Given the description of an element on the screen output the (x, y) to click on. 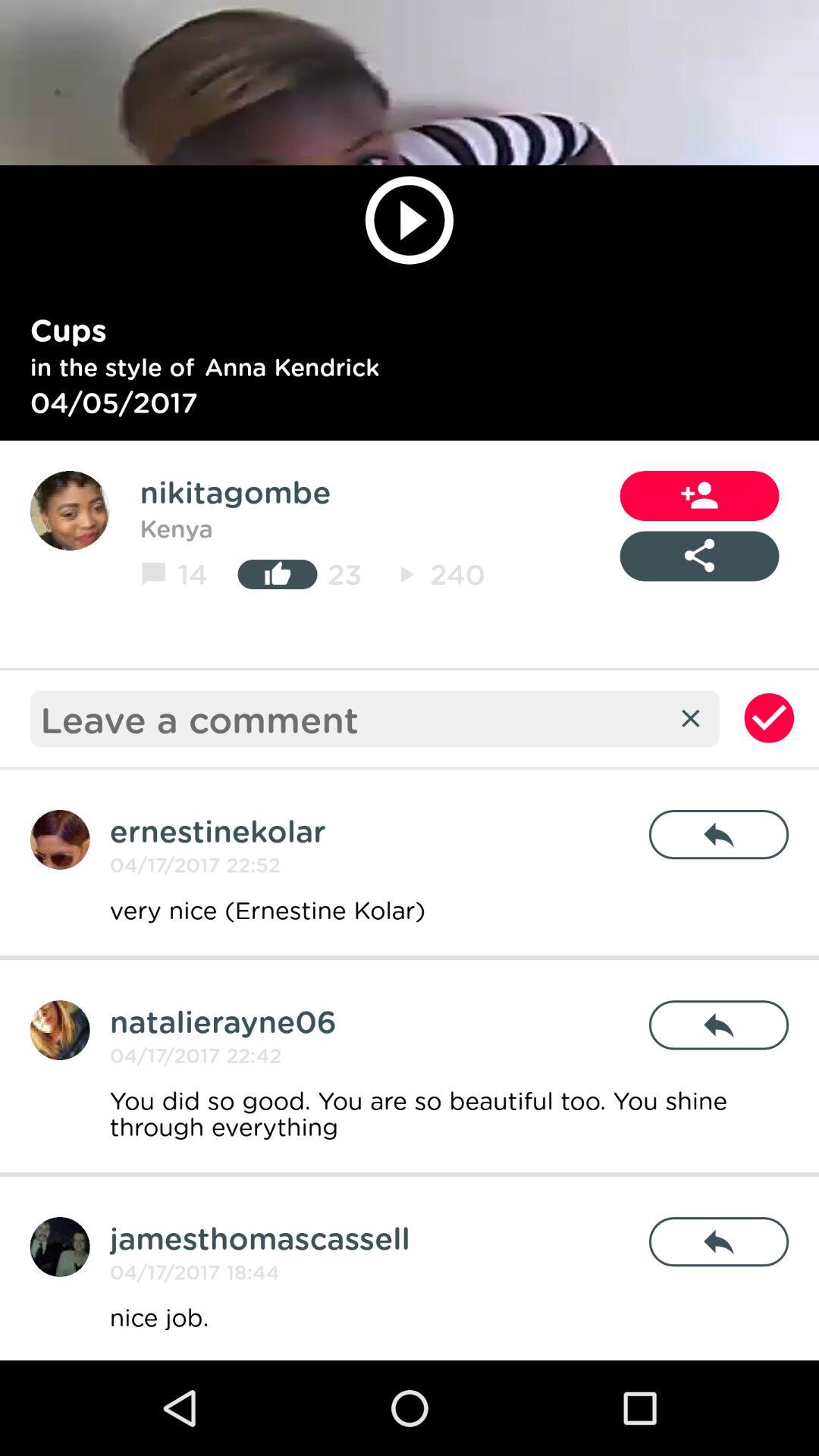
add a comment for the video (352, 718)
